Given the description of an element on the screen output the (x, y) to click on. 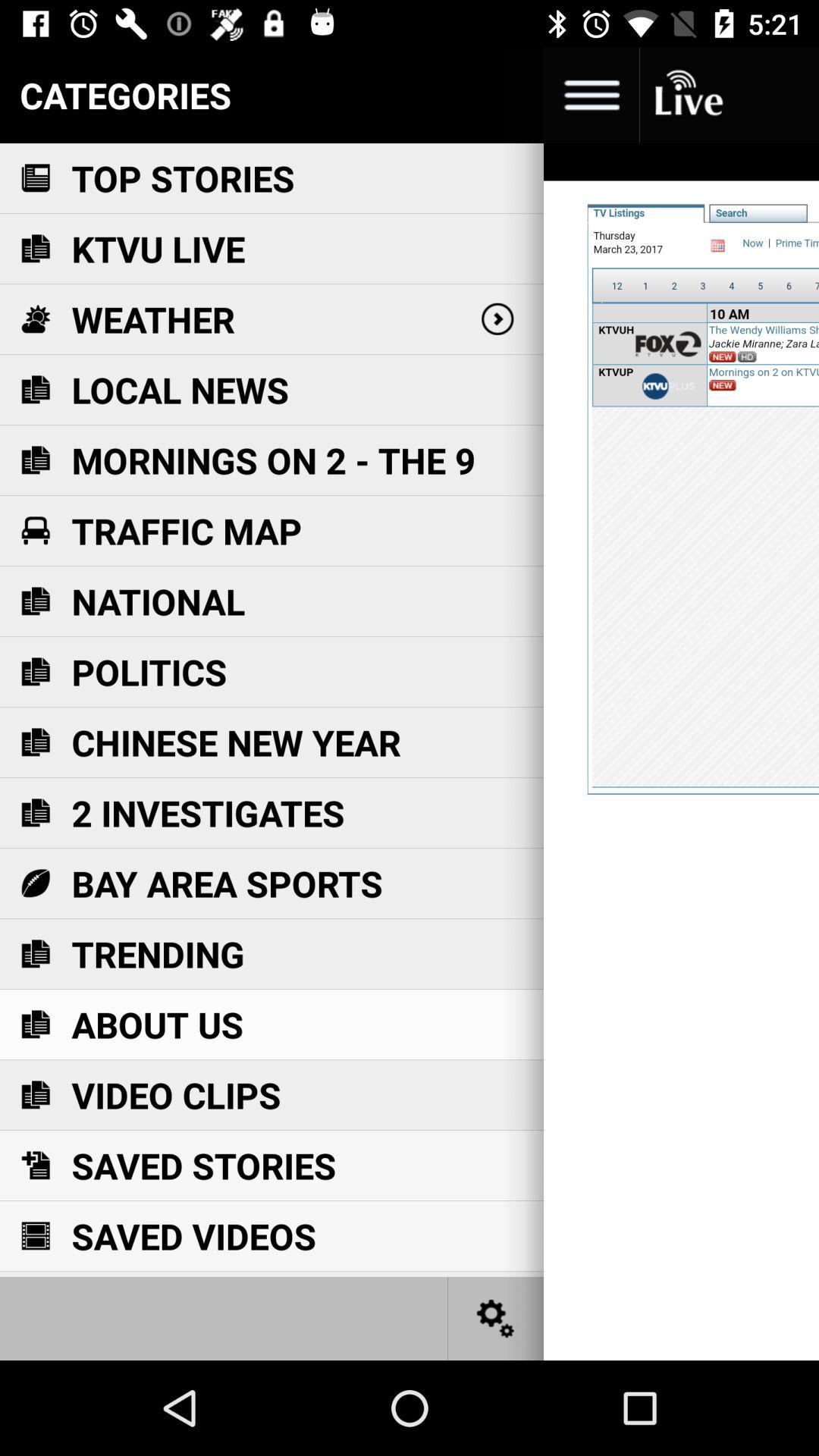
go live (687, 95)
